Given the description of an element on the screen output the (x, y) to click on. 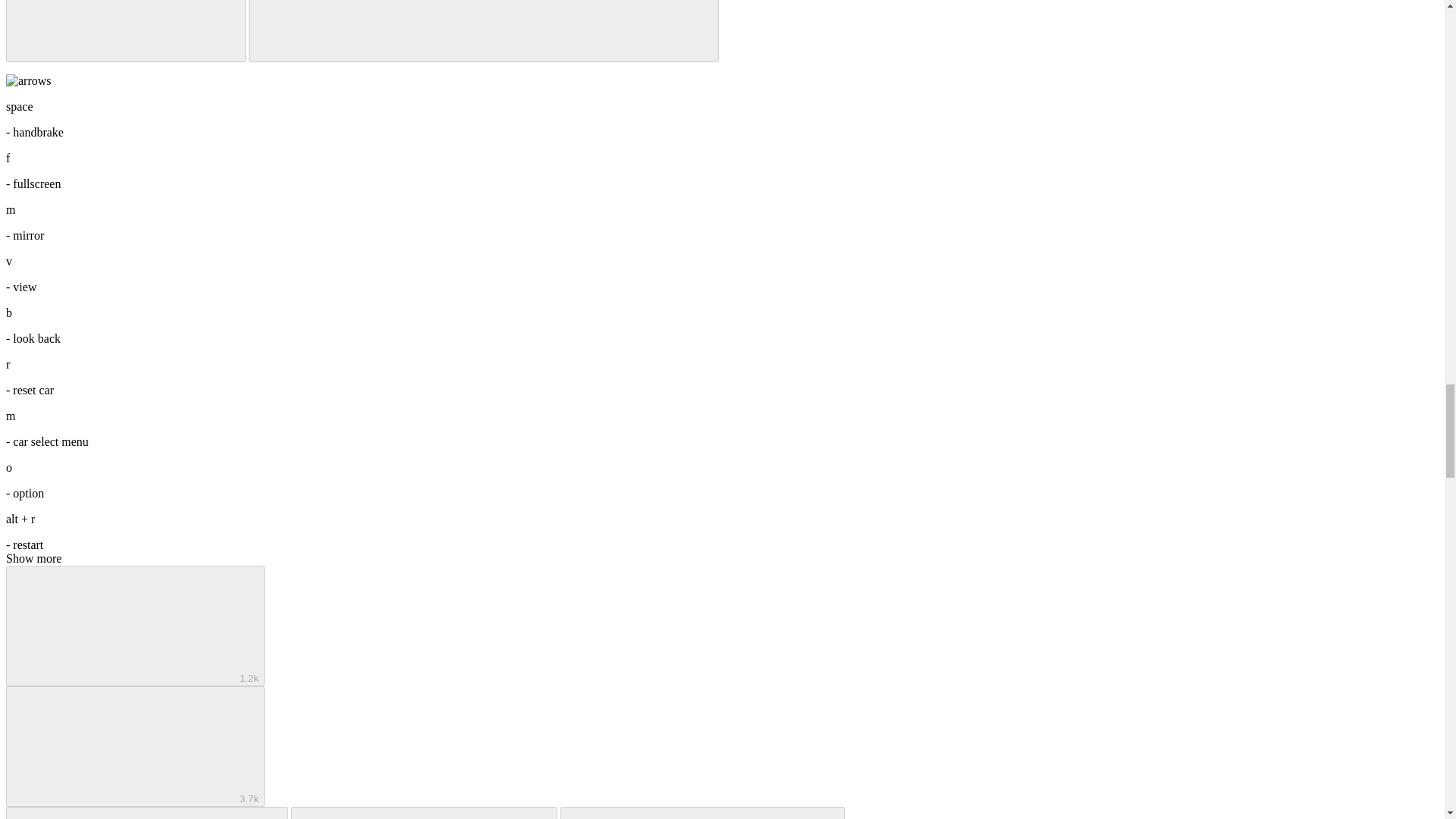
cinema (125, 31)
1.2k (134, 625)
Share (424, 812)
Favourite (146, 812)
Feedback (702, 812)
fullscreen (483, 31)
Show more (33, 558)
Share (424, 812)
3.7k (134, 746)
Feedback (702, 812)
